Given the description of an element on the screen output the (x, y) to click on. 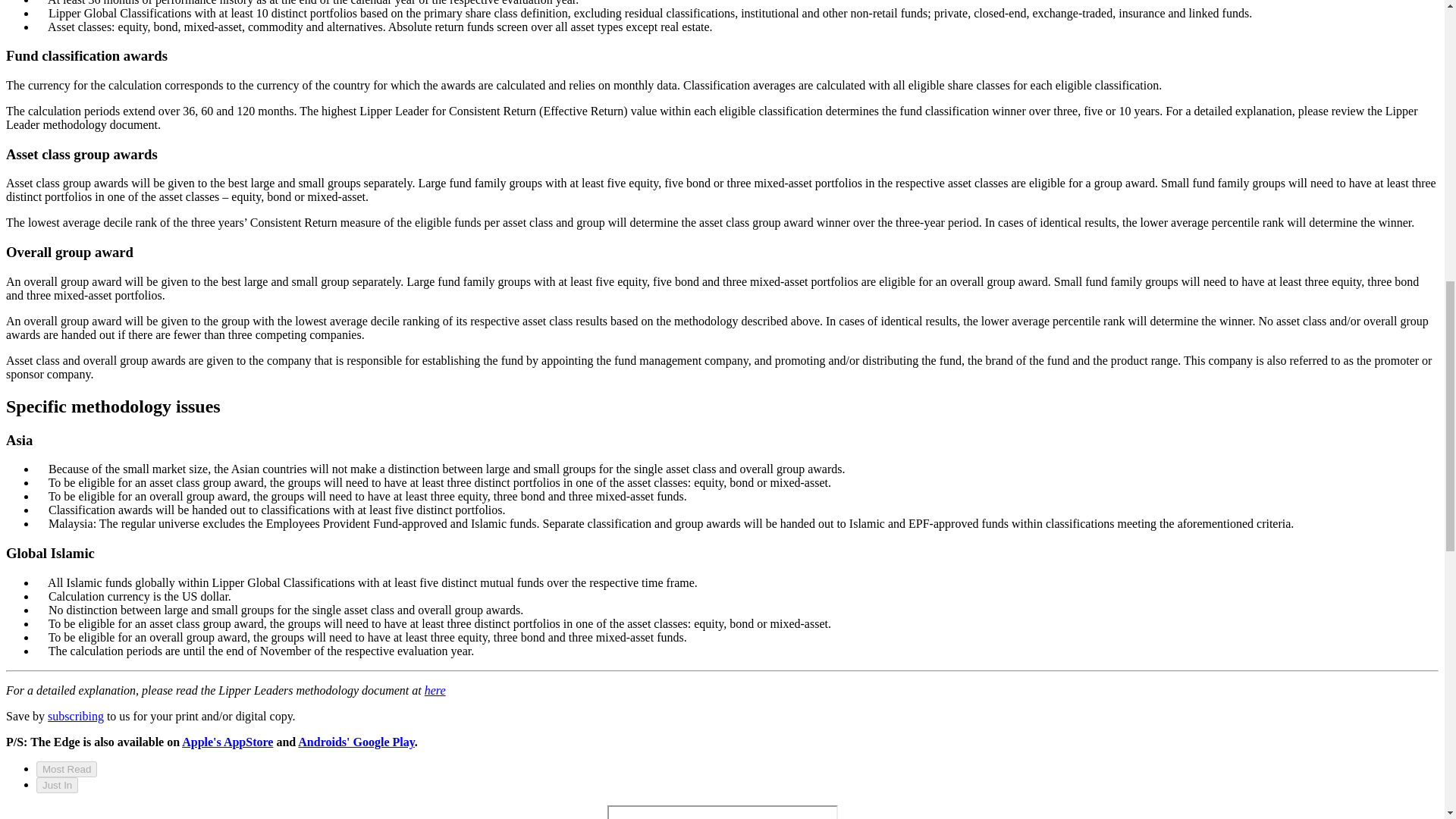
subscribing (75, 716)
Just In (57, 785)
here (435, 689)
Most Read (66, 769)
Apple's AppStore (227, 741)
Androids' Google Play (356, 741)
